Given the description of an element on the screen output the (x, y) to click on. 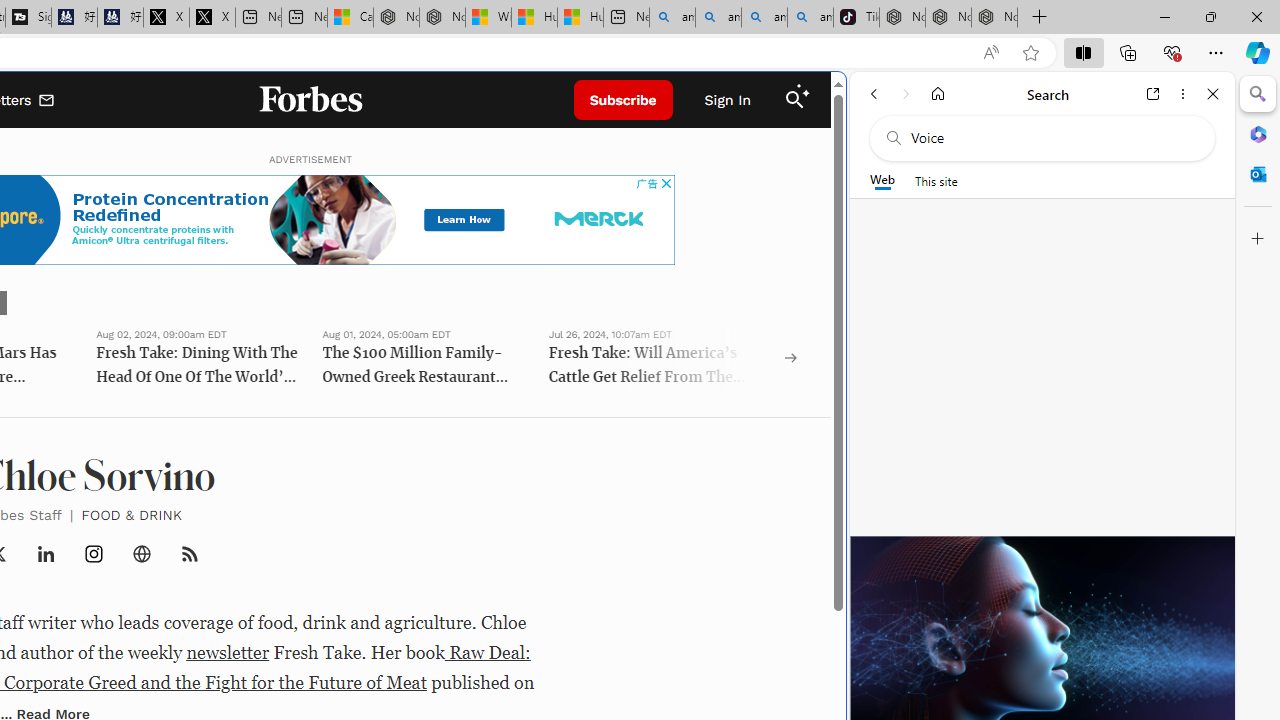
amazon - Search (718, 17)
Subscribe (623, 99)
Customize (1258, 239)
Class: _4mQLn (141, 553)
newsletter (227, 652)
Sign In (727, 100)
Class: OesMt (93, 553)
Nordace Siena Pro 15 Backpack (948, 17)
Outlook (1258, 174)
